Given the description of an element on the screen output the (x, y) to click on. 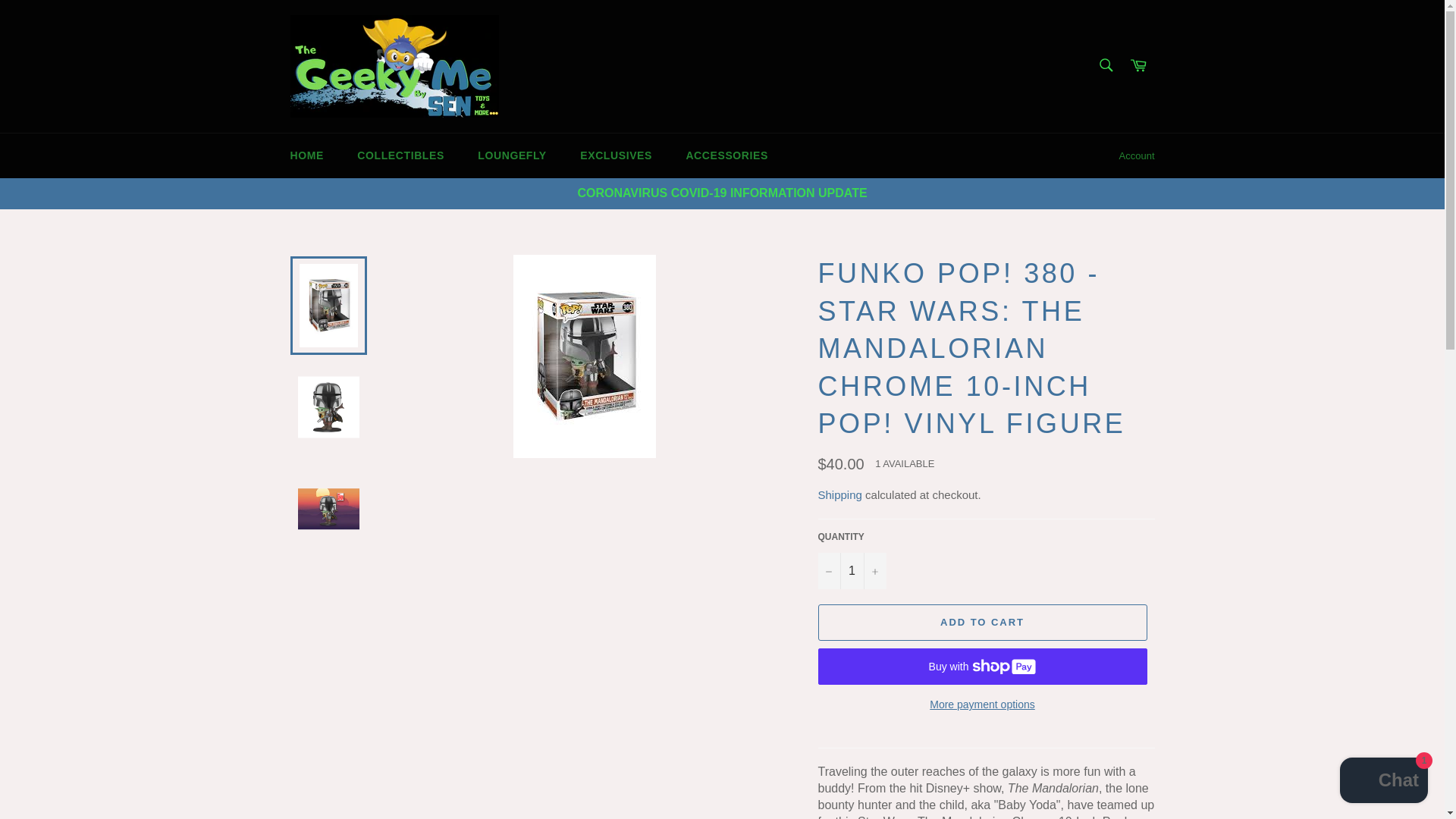
HOME (306, 155)
Search (1104, 65)
COLLECTIBLES (401, 155)
More payment options (981, 704)
Account (1136, 156)
Shipping (838, 494)
1 (850, 570)
Cart (1138, 66)
Shopify online store chat (1383, 781)
LOUNGEFLY (511, 155)
EXCLUSIVES (615, 155)
ADD TO CART (981, 622)
ACCESSORIES (726, 155)
